Given the description of an element on the screen output the (x, y) to click on. 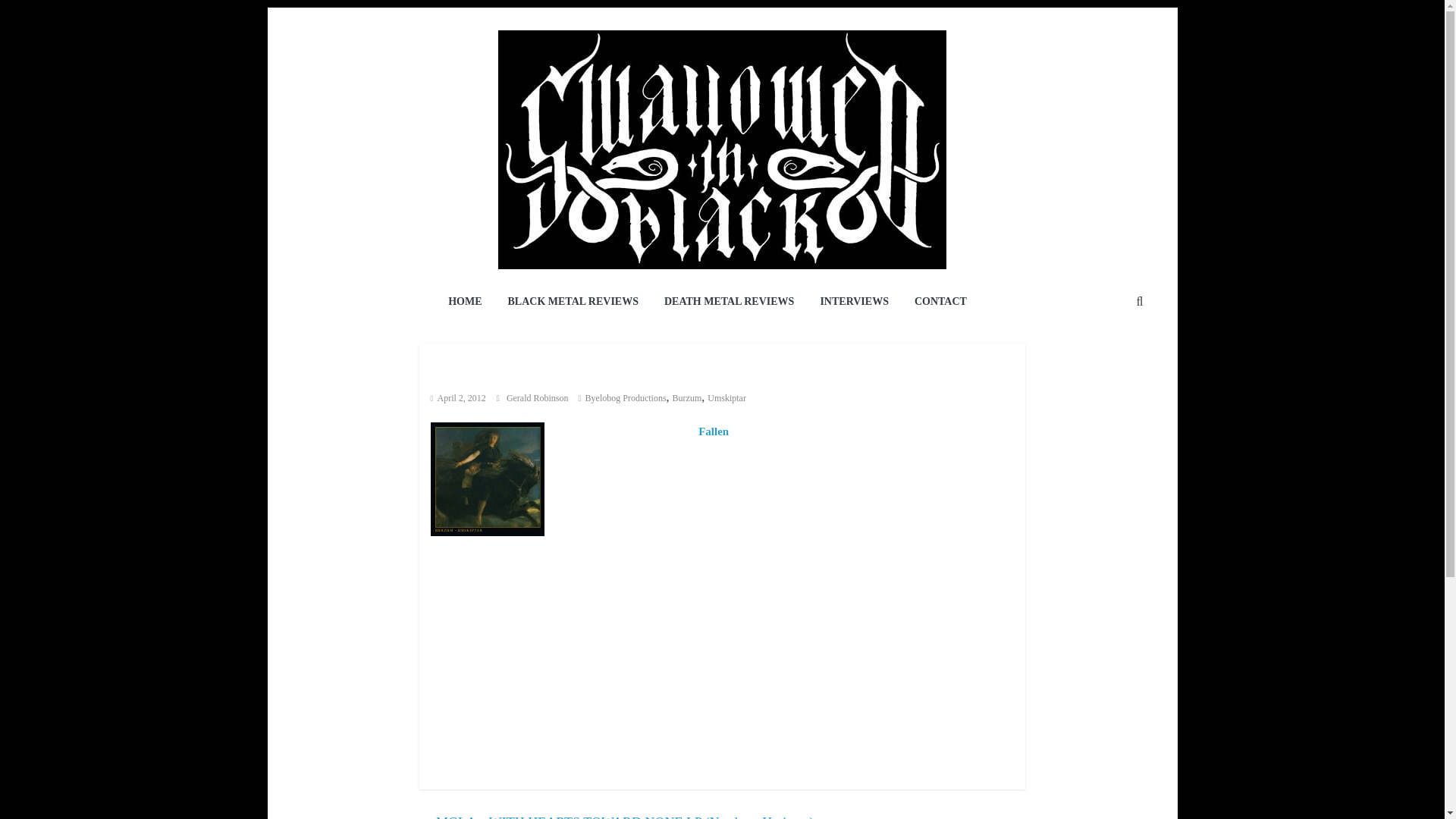
Fallen (713, 431)
April 2, 2012 (458, 398)
Gerald Robinson (538, 398)
INTERVIEWS (853, 302)
17:13 (458, 398)
Byelobog Productions (625, 398)
HOME (464, 302)
Burzum - Umskiptar (487, 479)
BLACK METAL REVIEWS (572, 302)
Umskiptar (726, 398)
